Given the description of an element on the screen output the (x, y) to click on. 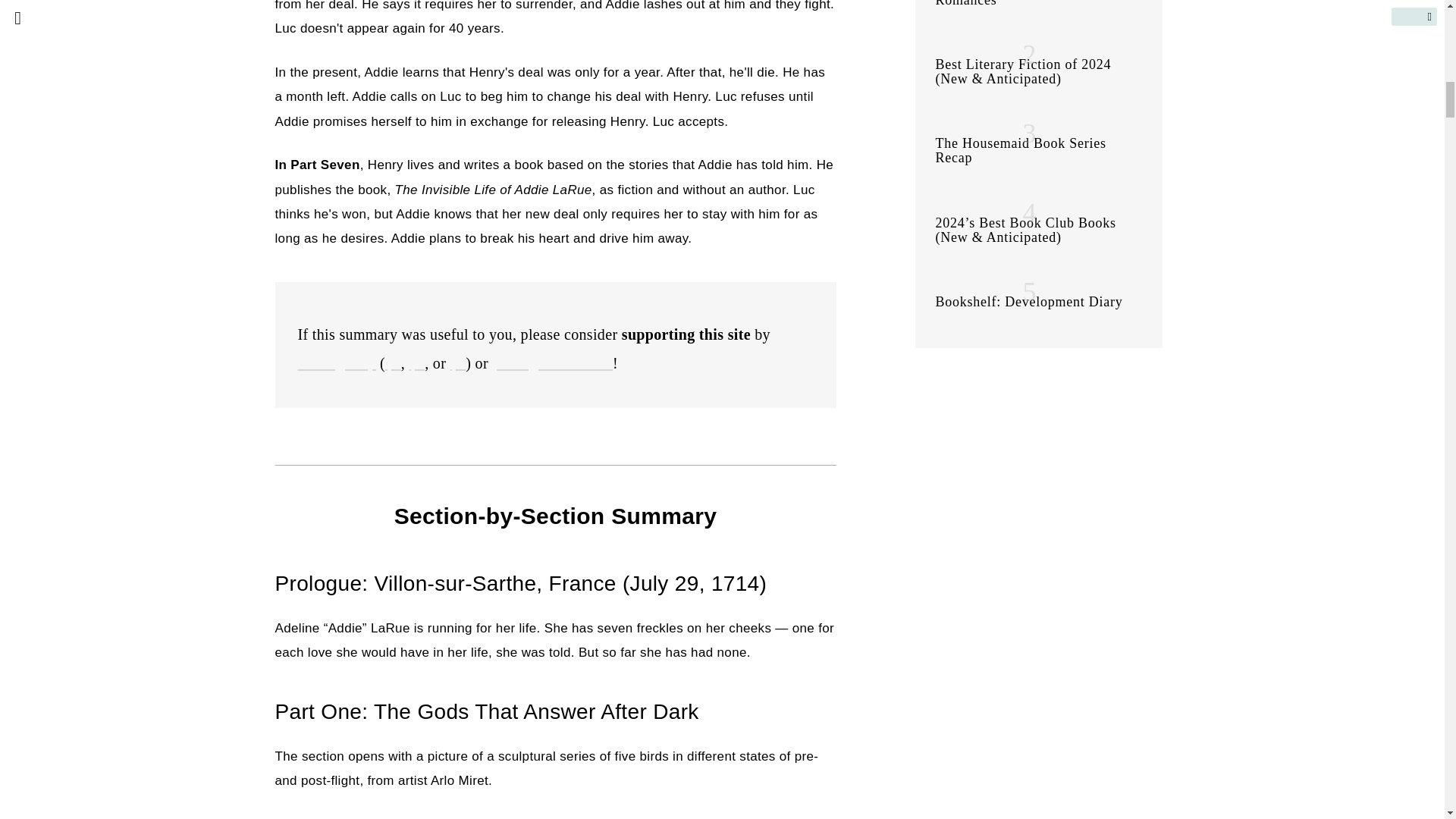
The Housemaid Book Series Recap (1021, 150)
